Given the description of an element on the screen output the (x, y) to click on. 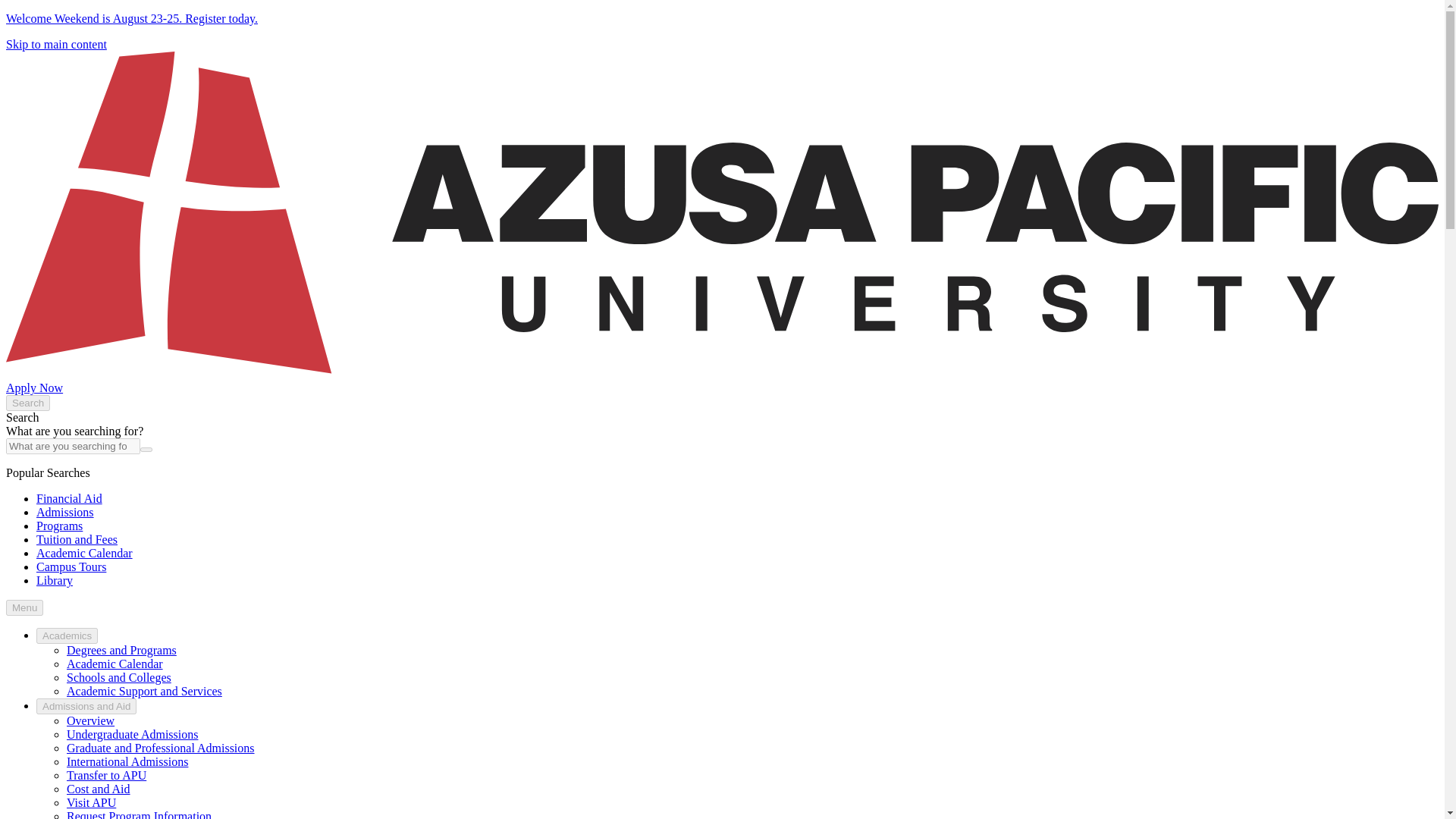
Academic Support and Services (144, 690)
Financial Aid (68, 498)
International Admissions (126, 761)
Tuition and Fees (76, 539)
Admissions and Aid (86, 706)
Overview (90, 720)
Menu (24, 607)
Campus Tours (71, 566)
Apply Now (33, 387)
Academic Calendar (84, 553)
Visit APU (91, 802)
Welcome Weekend is August 23-25. Register today. (131, 18)
Admissions (65, 512)
Cost and Aid (98, 788)
Undergraduate Admissions (132, 734)
